Given the description of an element on the screen output the (x, y) to click on. 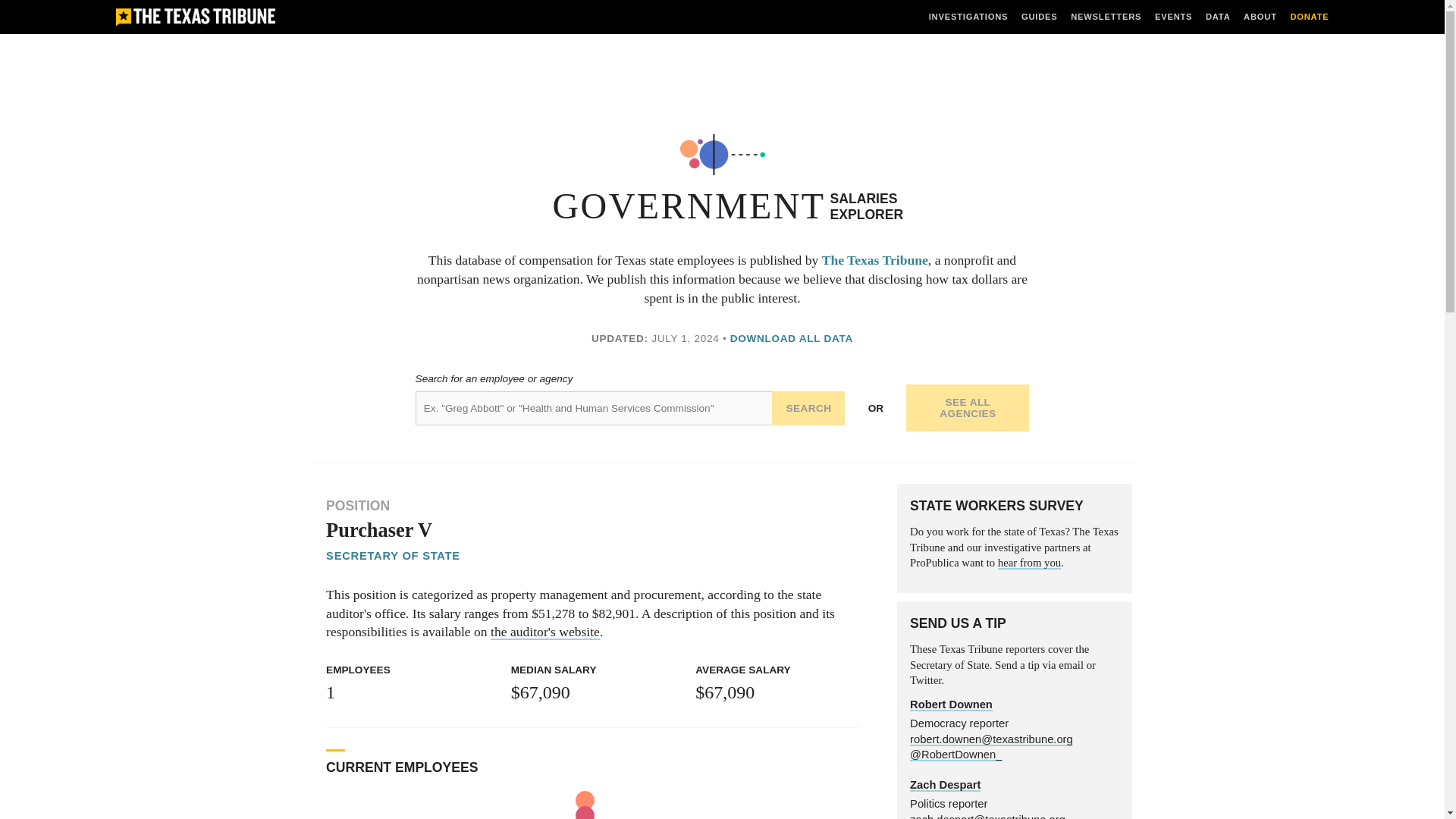
INVESTIGATIONS (968, 17)
ABOUT (1259, 17)
SEE ALL AGENCIES (967, 407)
DOWNLOAD ALL DATA (791, 337)
the auditor's website (544, 631)
Zach Despart (944, 784)
SECRETARY OF STATE (393, 555)
SALARIES EXPLORER (865, 205)
EVENTS (1173, 17)
DONATE (1308, 17)
Search (807, 408)
hear from you (1029, 562)
Robert Downen (951, 704)
GOVERNMENT (688, 205)
The Texas Tribune (875, 259)
